Given the description of an element on the screen output the (x, y) to click on. 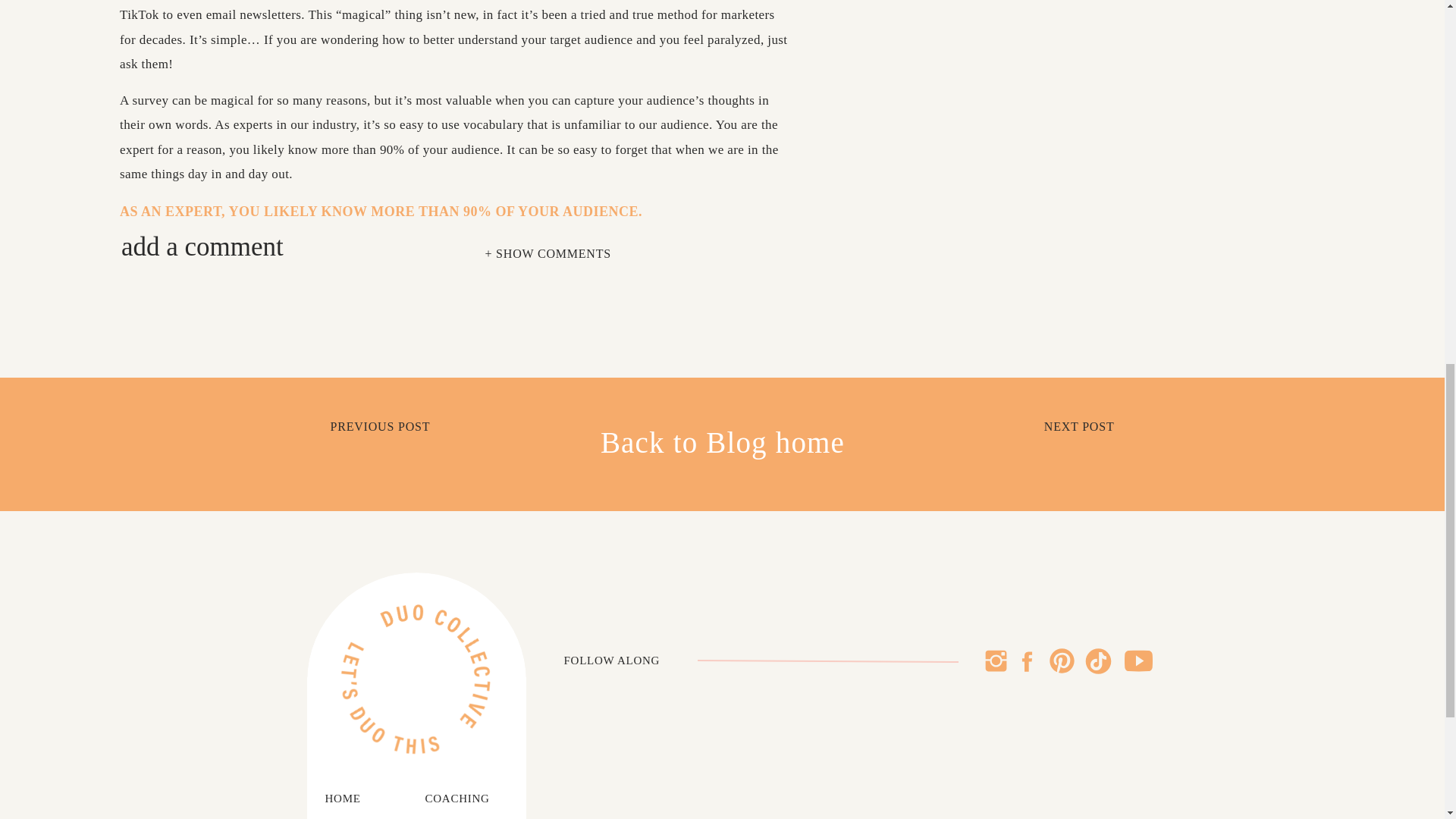
Google Forms (173, 359)
Typeform (161, 458)
article from Hubspot (419, 507)
Back to Blog home (722, 444)
SoGo Survey (171, 433)
Survey Monkey (178, 409)
HOME (351, 799)
